Given the description of an element on the screen output the (x, y) to click on. 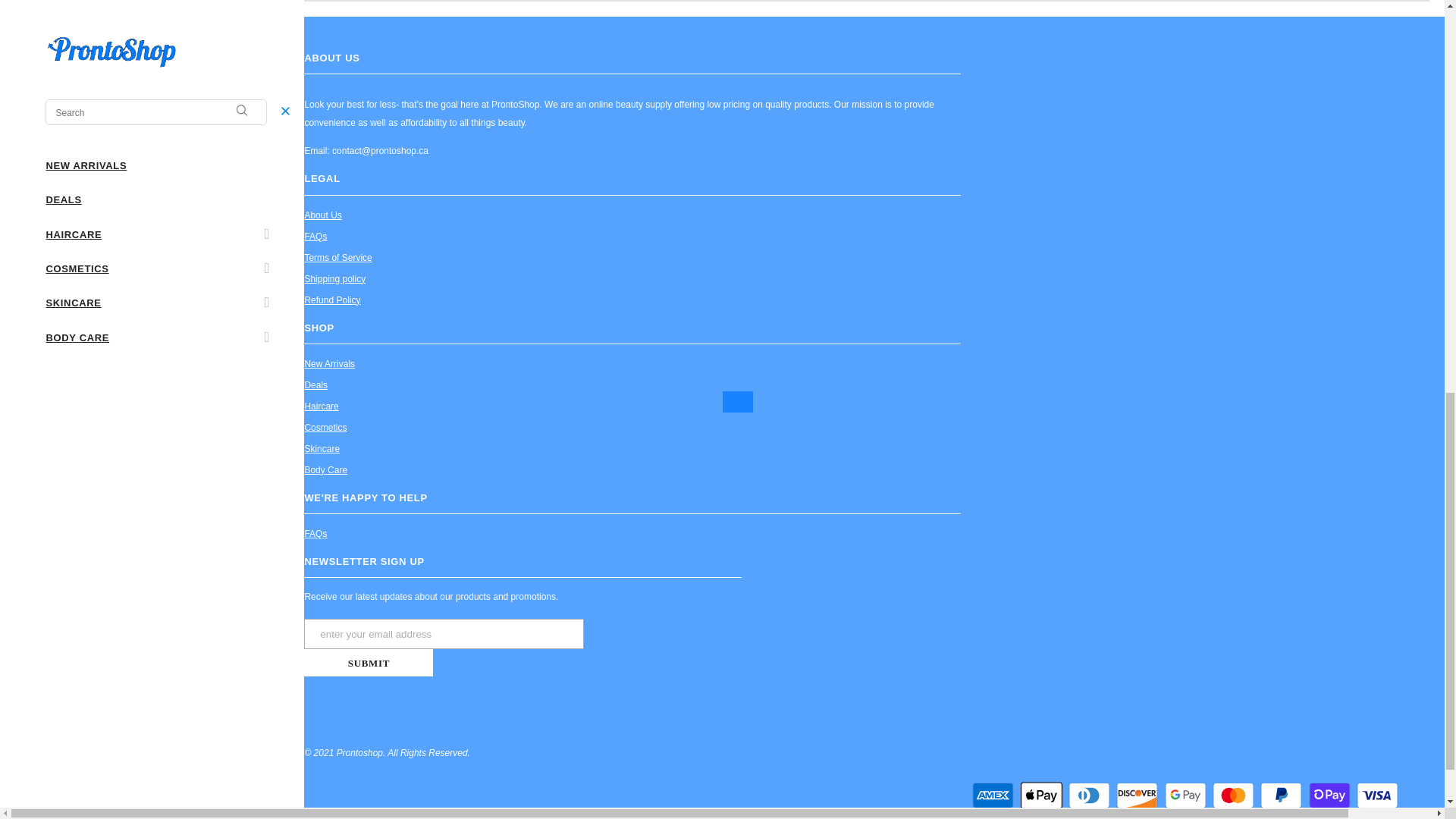
About Us (322, 215)
About Us (322, 215)
Mastercard (1232, 795)
Discover (1136, 795)
Haircare (320, 405)
FAQs (315, 236)
Google Pay (1185, 795)
Shop Pay (1329, 795)
Submit (368, 662)
Cosmetics (325, 427)
FAQs (315, 236)
Shipping policy (334, 278)
Refund Policy (331, 300)
Deals (315, 384)
PayPal (1280, 795)
